Given the description of an element on the screen output the (x, y) to click on. 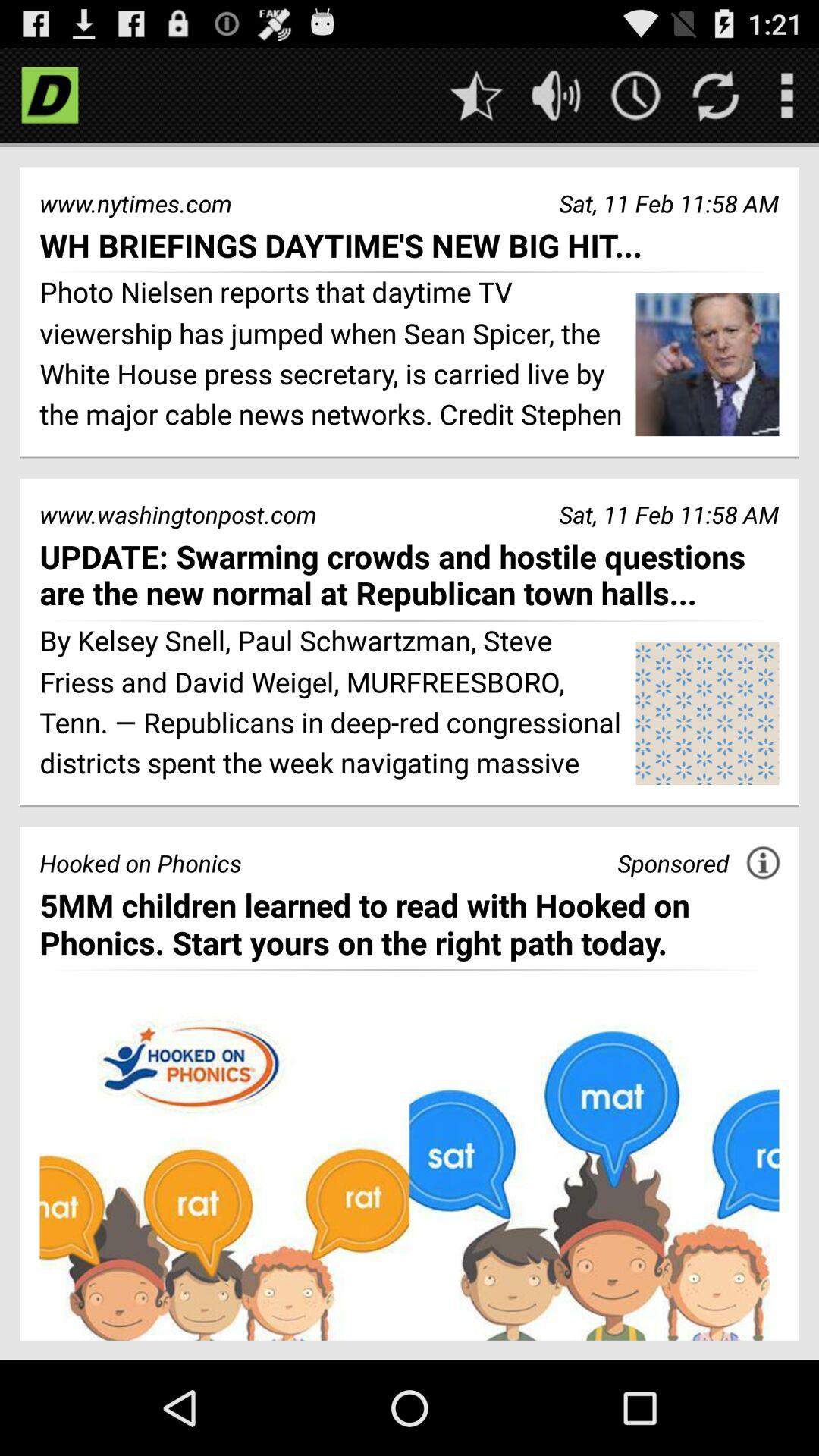
choose app to the right of the hooked on phonics item (673, 862)
